Given the description of an element on the screen output the (x, y) to click on. 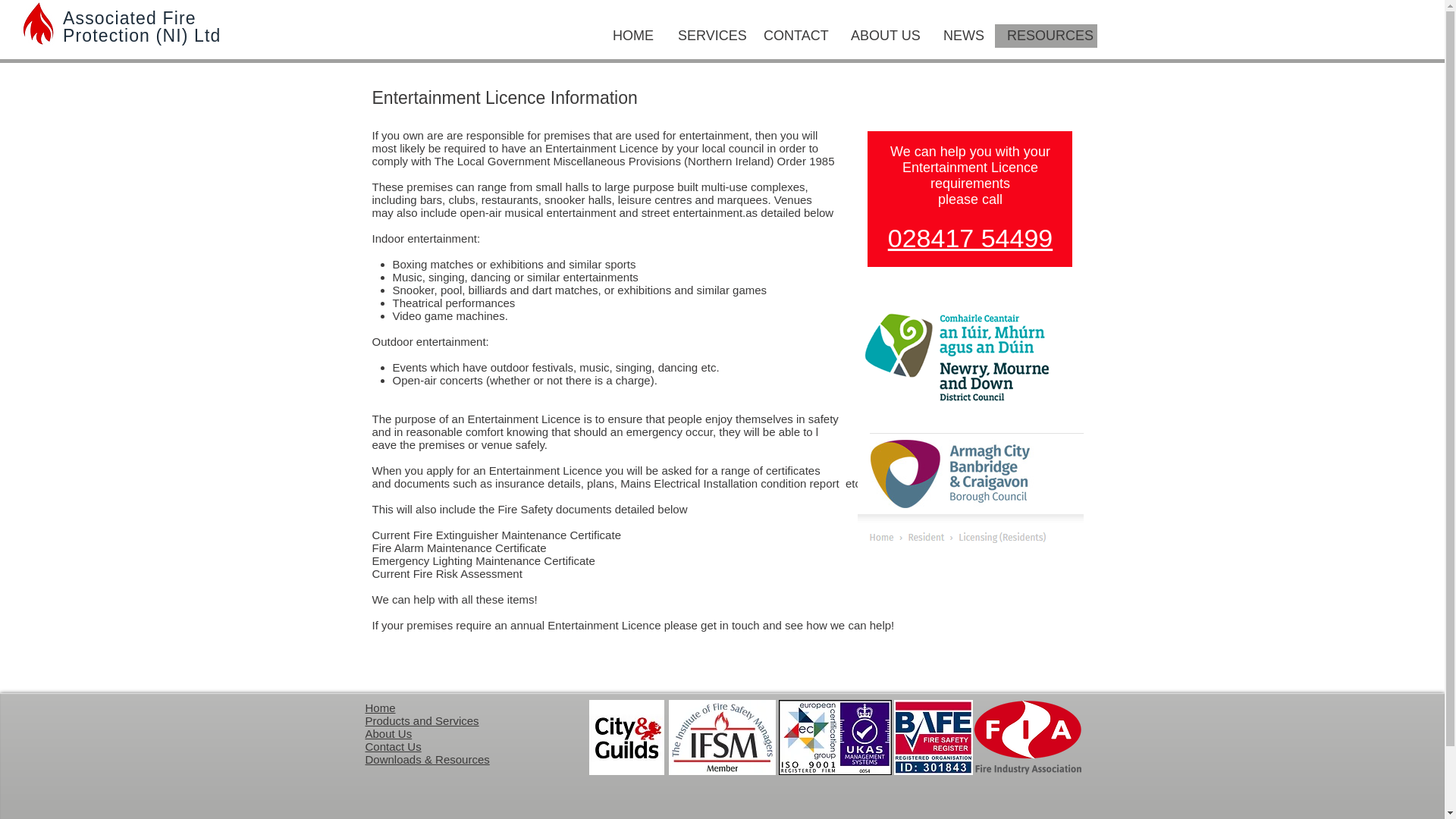
SERVICES (708, 35)
About Us (388, 733)
NEWS (962, 35)
Home (380, 707)
Products and Services (422, 720)
ABOUT US (884, 35)
RESOURCES (1045, 35)
028417 54499 (970, 237)
Contact Us (393, 746)
HOME (632, 35)
